Given the description of an element on the screen output the (x, y) to click on. 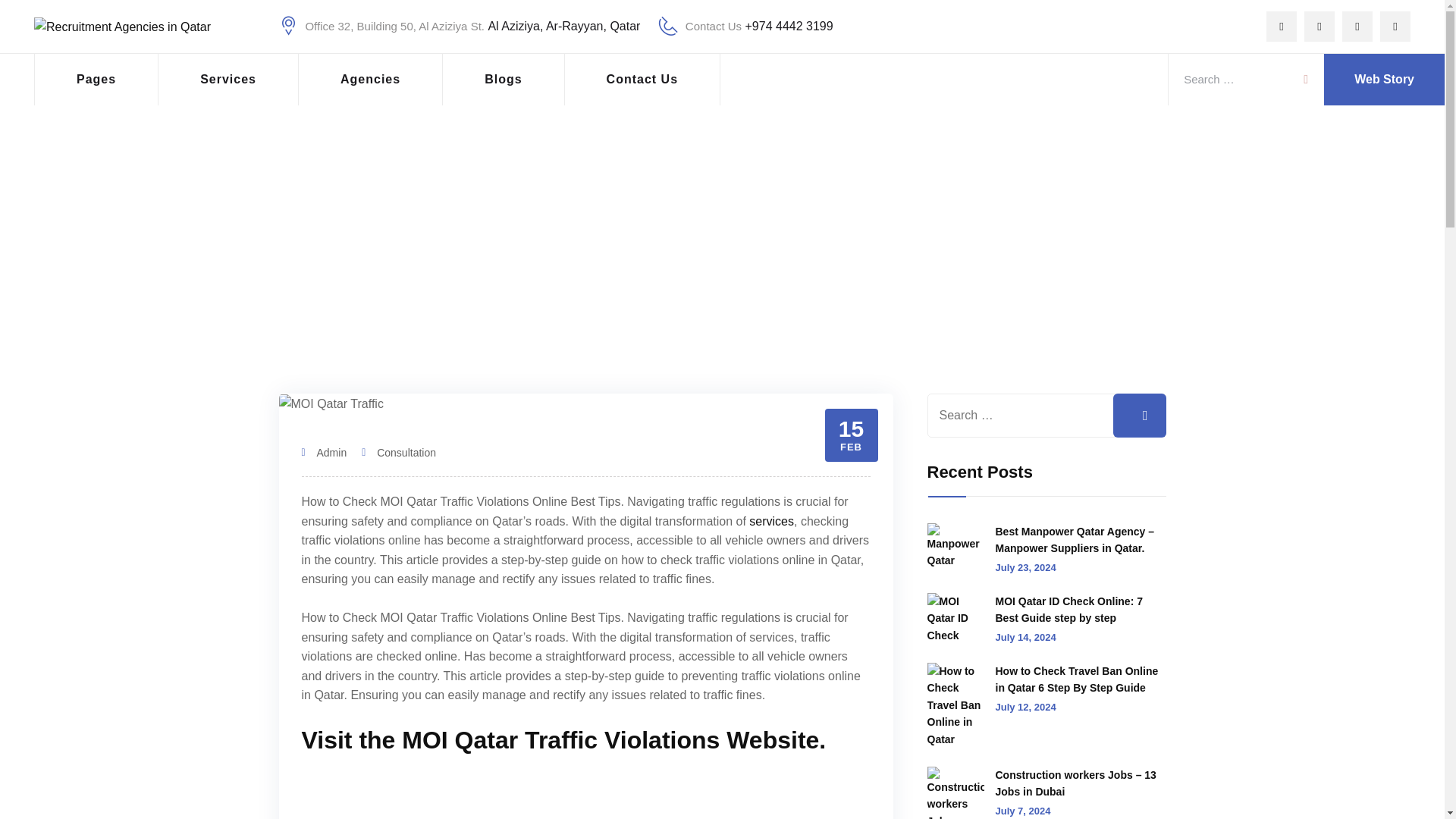
instagram (1395, 26)
Consultation (406, 452)
Consultation (492, 259)
SEARCH (1304, 76)
Go to the Consultation Category archives. (492, 259)
services (771, 521)
Pages (95, 79)
Blogs (503, 79)
facebook (1281, 26)
Go to Recruitment Agencies in Qatar. (362, 259)
twitter (1319, 26)
Recruitment Agencies in Qatar (122, 26)
Agencies (370, 79)
Admin (332, 452)
Recruitment Agencies in Qatar (362, 259)
